Given the description of an element on the screen output the (x, y) to click on. 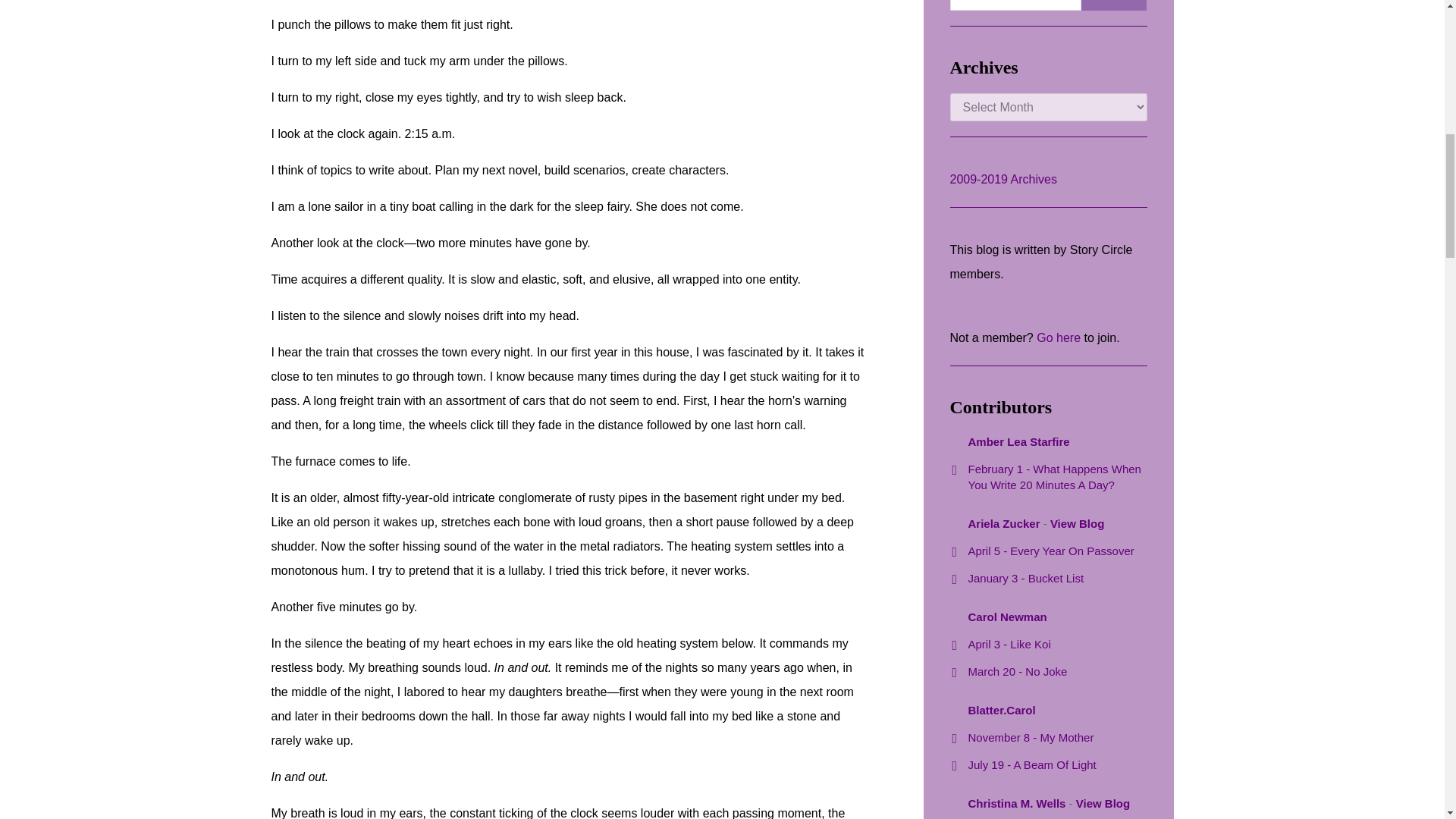
Search (1114, 5)
Search (1114, 5)
